Given the description of an element on the screen output the (x, y) to click on. 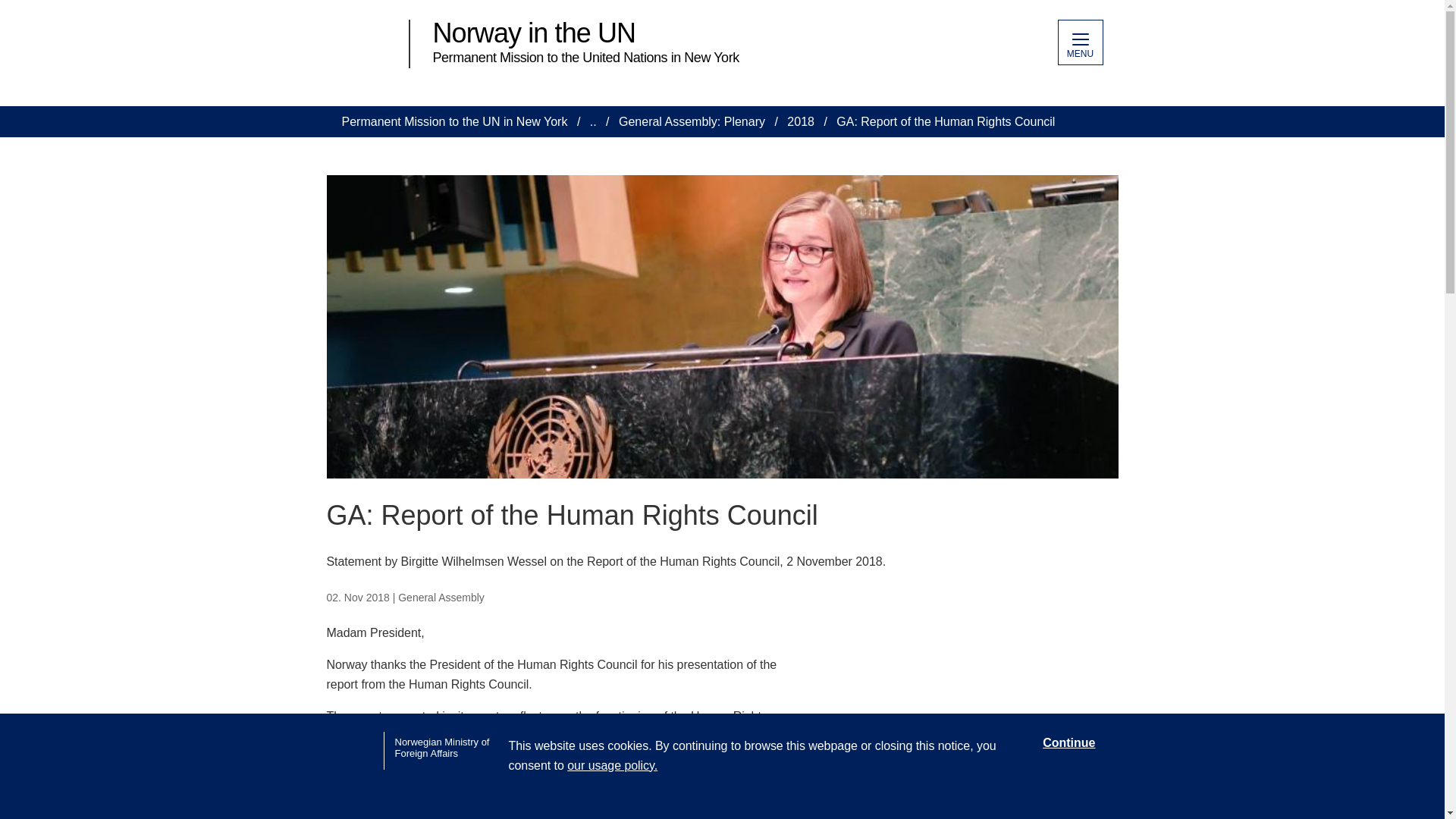
Permanent Mission to the UN in New York (453, 121)
2018 (800, 121)
Continue (1068, 743)
Permanent Mission to the UN in New York (453, 121)
MENU (1079, 42)
2018 (800, 121)
General Assembly: Plenary (691, 121)
our usage policy. (612, 765)
General Assembly: Plenary (691, 121)
